Given the description of an element on the screen output the (x, y) to click on. 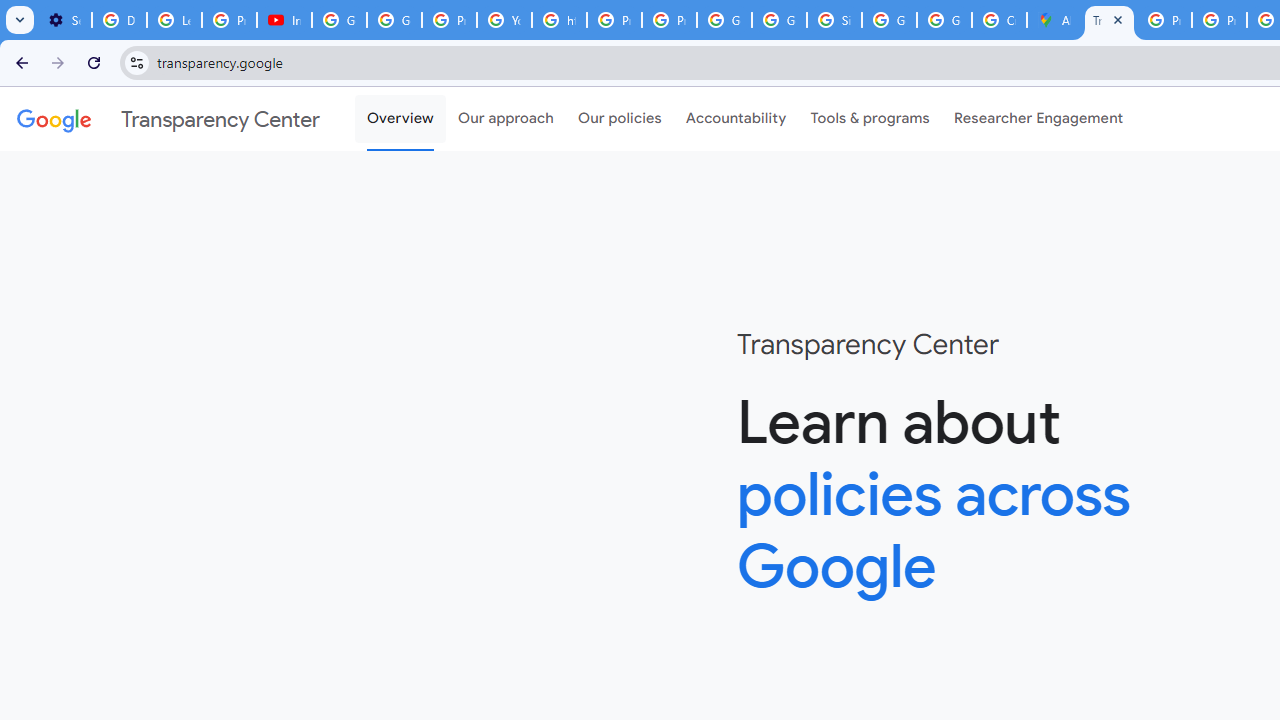
Privacy Help Center - Policies Help (1163, 20)
Accountability (735, 119)
Introduction | Google Privacy Policy - YouTube (284, 20)
Our approach (506, 119)
Our policies (619, 119)
